Given the description of an element on the screen output the (x, y) to click on. 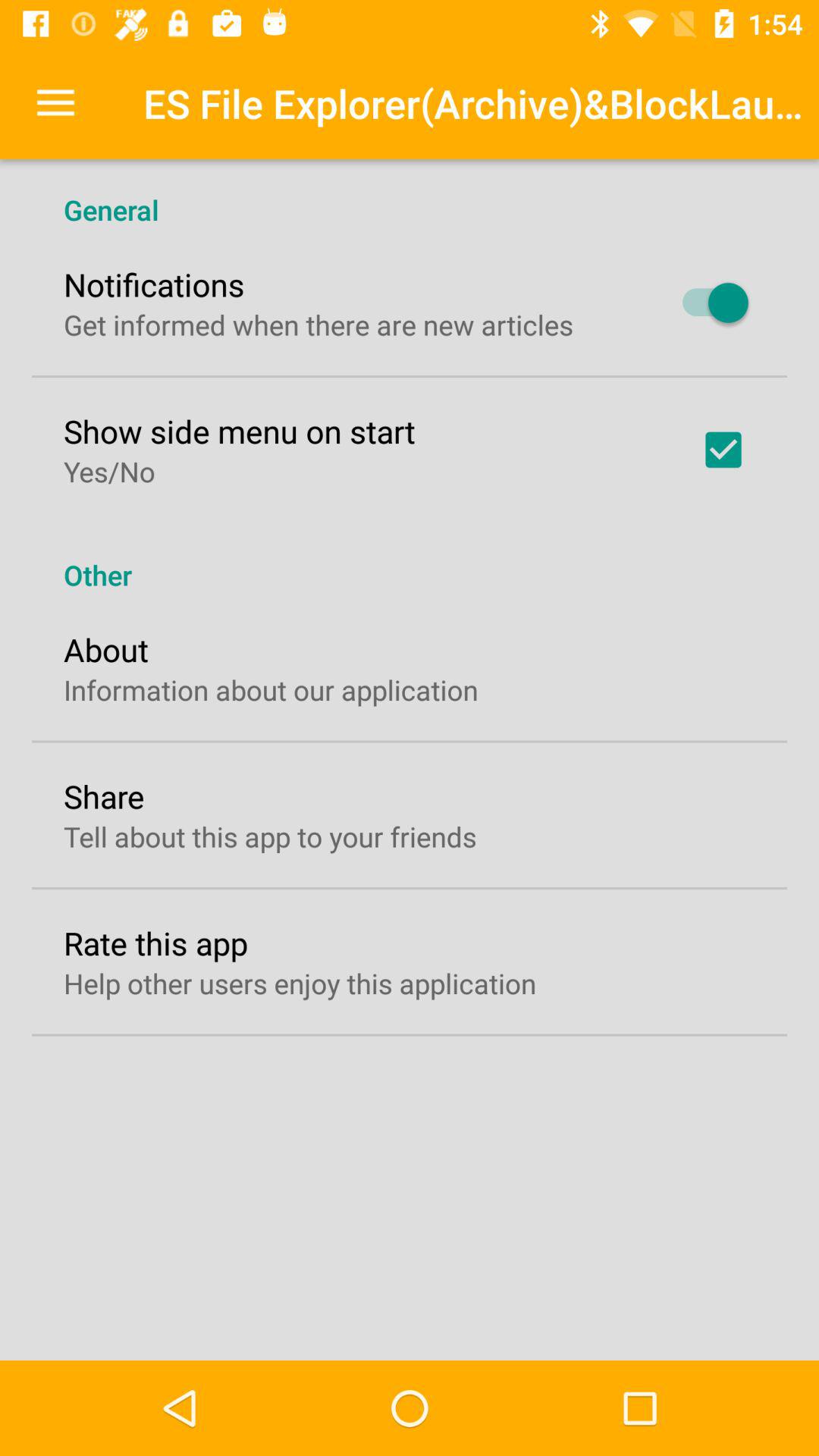
turn on icon below the general item (153, 283)
